Given the description of an element on the screen output the (x, y) to click on. 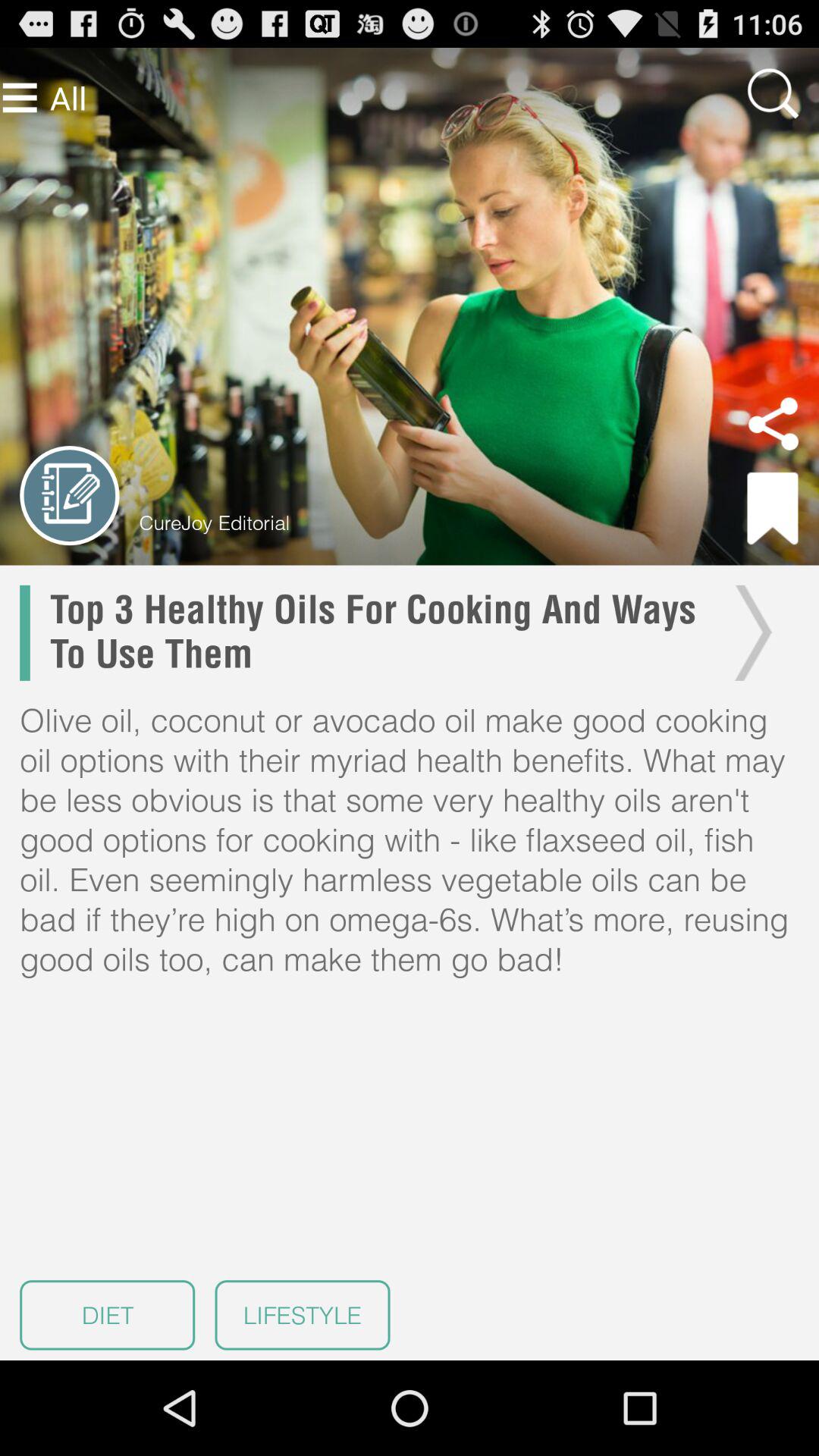
go next (749, 632)
